Given the description of an element on the screen output the (x, y) to click on. 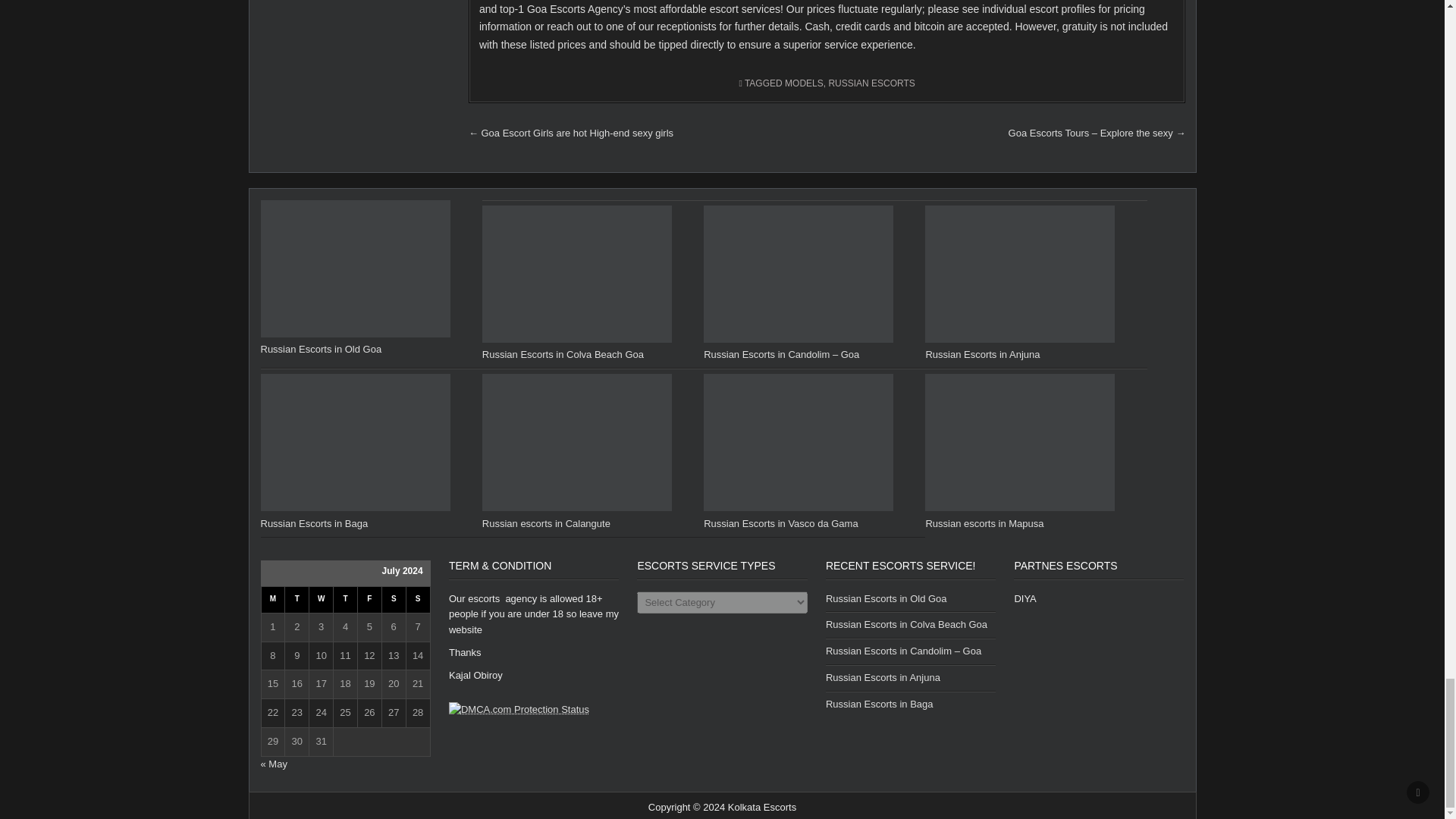
Russian Escorts in Anjuna 10 (1019, 274)
Russian Escorts in Candolim - Goa 9 (798, 274)
Russian Escorts in Colva Beach Goa 8 (576, 274)
RUSSIAN ESCORTS (871, 82)
Russian Escorts in Baga 11 (354, 442)
Russian Escorts in Old Goa 7 (354, 268)
Russian escorts in Calangute 12 (576, 442)
MODELS (804, 82)
